Given the description of an element on the screen output the (x, y) to click on. 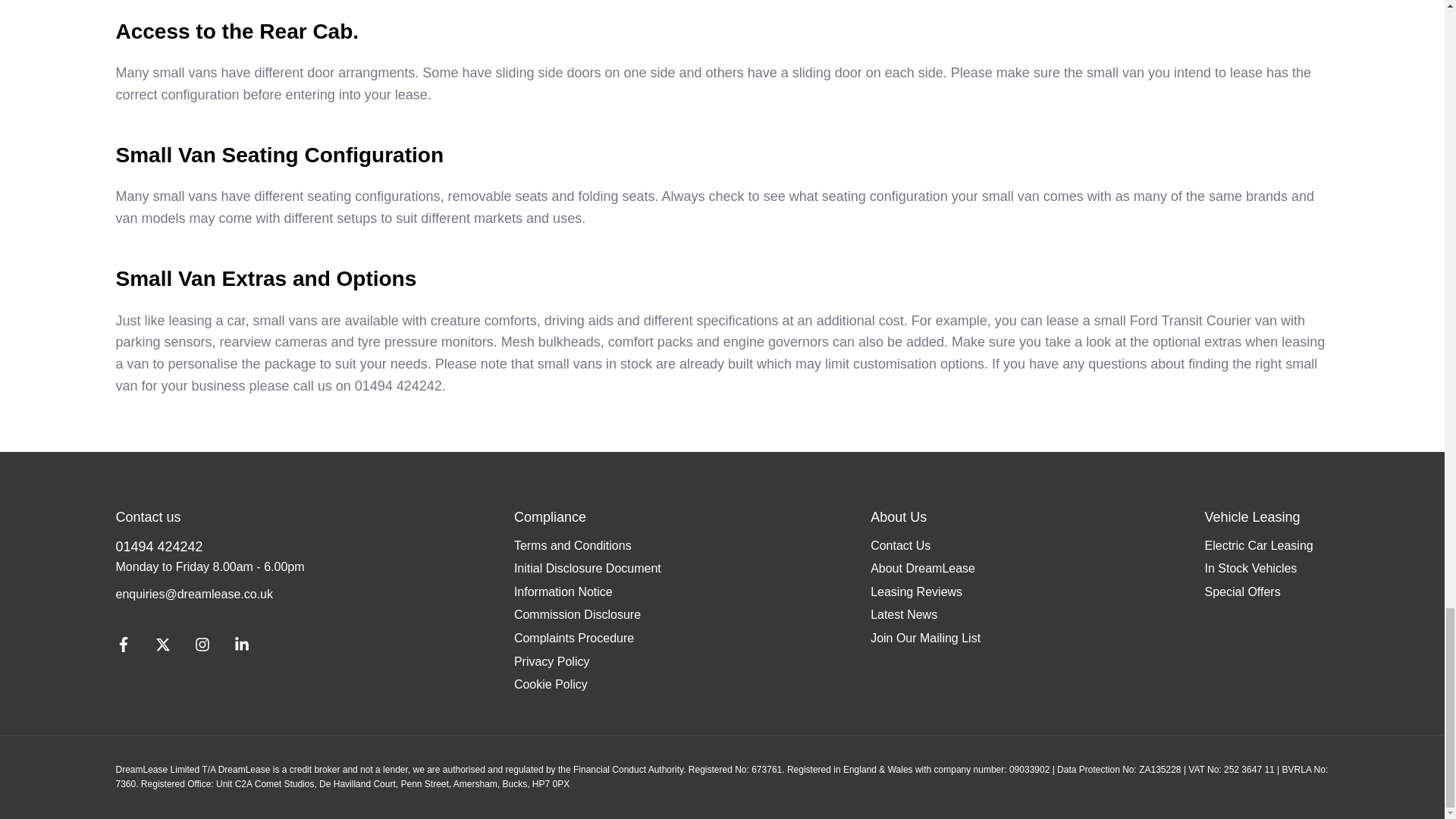
LinkedIn (240, 647)
Twitter (162, 647)
Facebook (122, 647)
Instagram (201, 647)
